Given the description of an element on the screen output the (x, y) to click on. 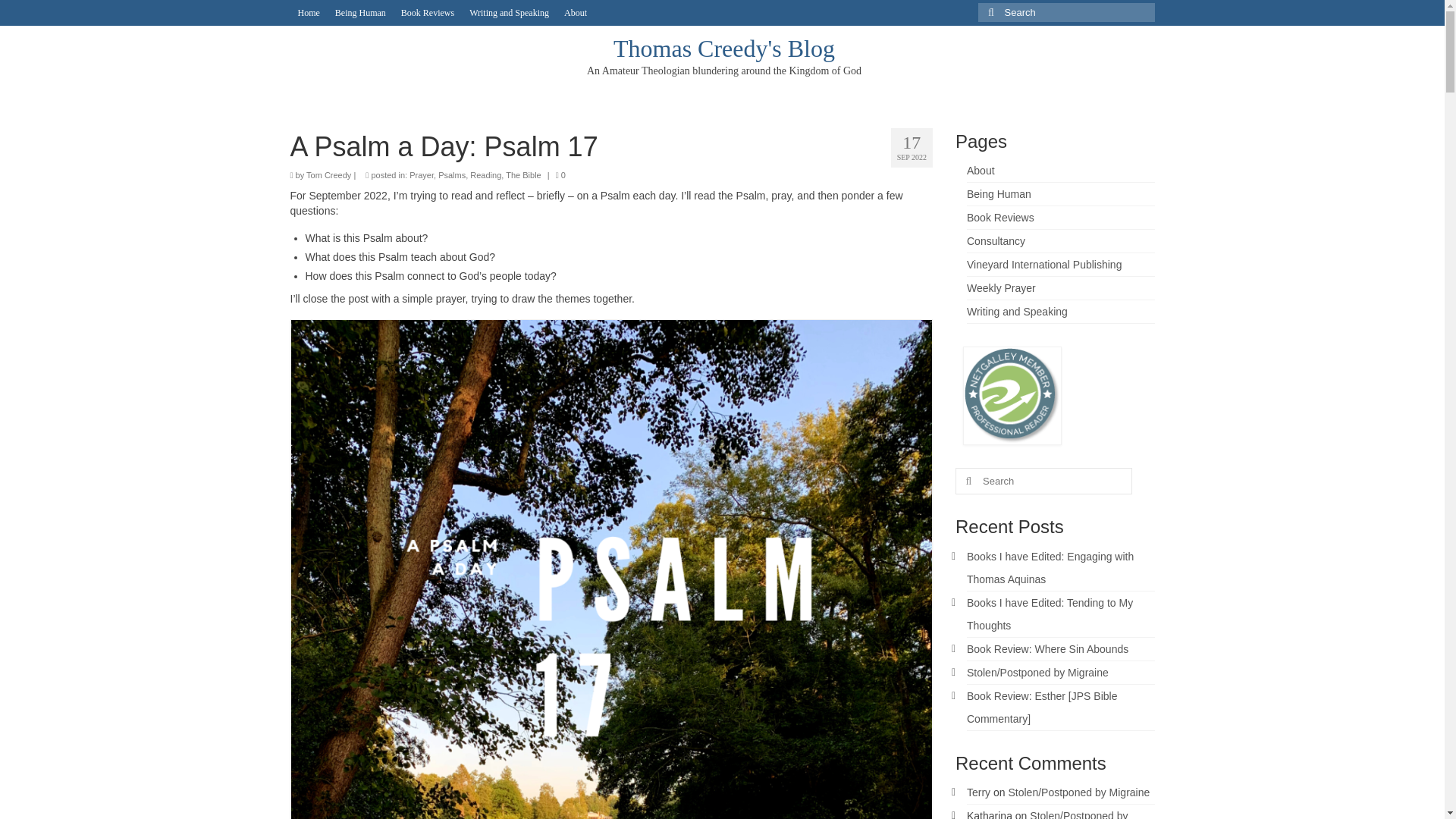
Consultancy (995, 241)
Book Reviews (999, 217)
Reading (485, 174)
Psalms (451, 174)
Tom Creedy (327, 174)
About (575, 12)
Being Human (360, 12)
About (980, 170)
Weekly Prayer (1000, 287)
Writing and Speaking (508, 12)
Books I have Edited: Engaging with Thomas Aquinas (1050, 567)
Prayer (421, 174)
Book Review: Where Sin Abounds (1047, 648)
Book Reviews (427, 12)
Terry (978, 792)
